Given the description of an element on the screen output the (x, y) to click on. 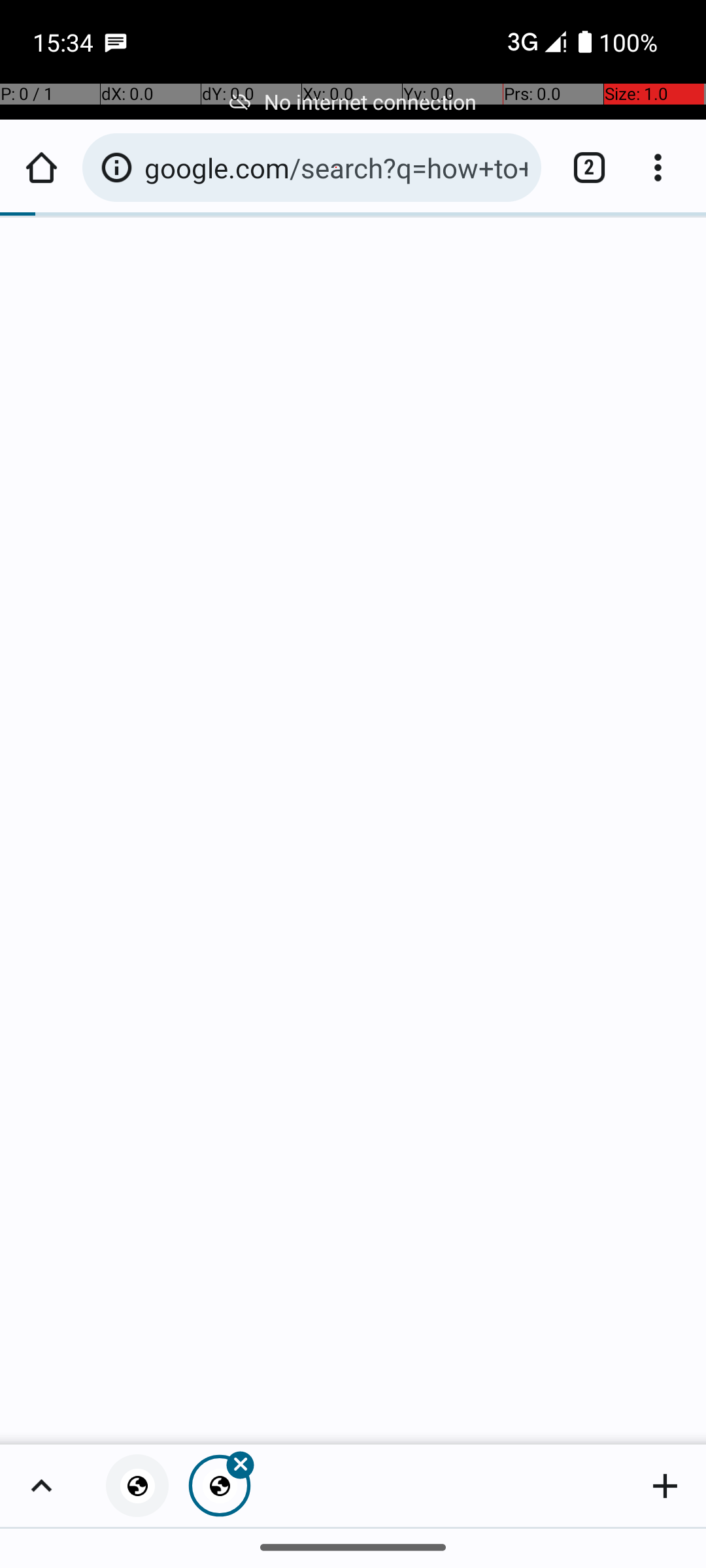
Show group's tabs in fullscreen grid Element type: android.widget.ImageView (41, 1485)
Add new tab to group Element type: android.widget.ImageView (664, 1485)
google.com/search?q=how+to+fix+no+internet+connection+on+chrome&oq=how+to+fix+no+internet+connection+on+chrome&aqs=chrome..69i57.1447j0j4&client=ms-unknown&sourceid=chrome-mobile&ie=UTF-8 Element type: android.widget.EditText (335, 167)
Privacy error, tab Element type: android.widget.ImageButton (137, 1485)
Close  tab Element type: android.widget.ImageButton (219, 1485)
